Given the description of an element on the screen output the (x, y) to click on. 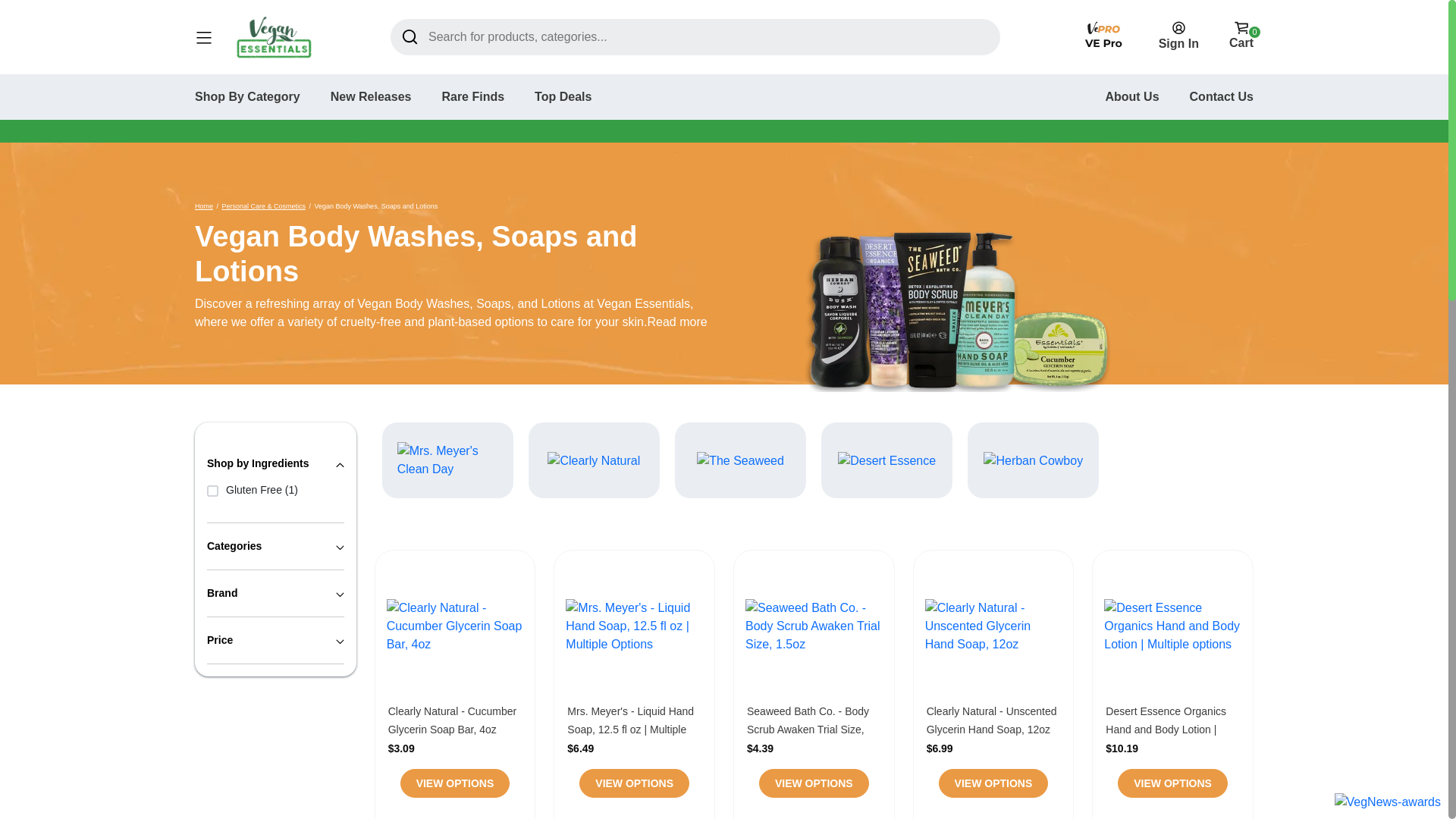
Sign In (1178, 35)
Top Deals (562, 96)
About Us (1131, 96)
Contact Us (1221, 96)
Home (203, 205)
Rare Finds (472, 96)
New Releases (371, 96)
Home (203, 205)
Shop By Category (247, 96)
